Given the description of an element on the screen output the (x, y) to click on. 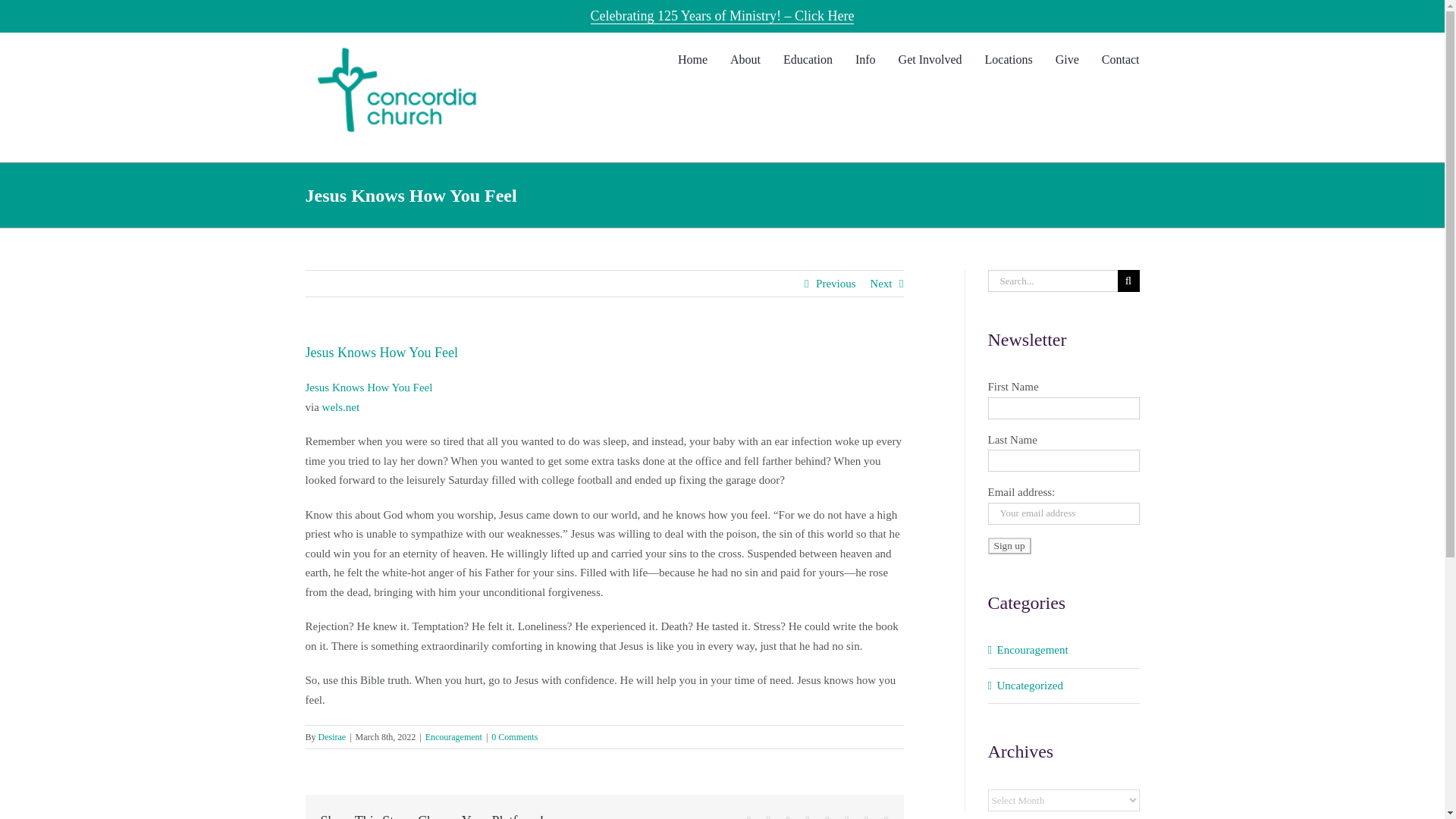
Get Involved (930, 56)
Previous (835, 283)
Encouragement (453, 737)
0 Comments (514, 737)
